Given the description of an element on the screen output the (x, y) to click on. 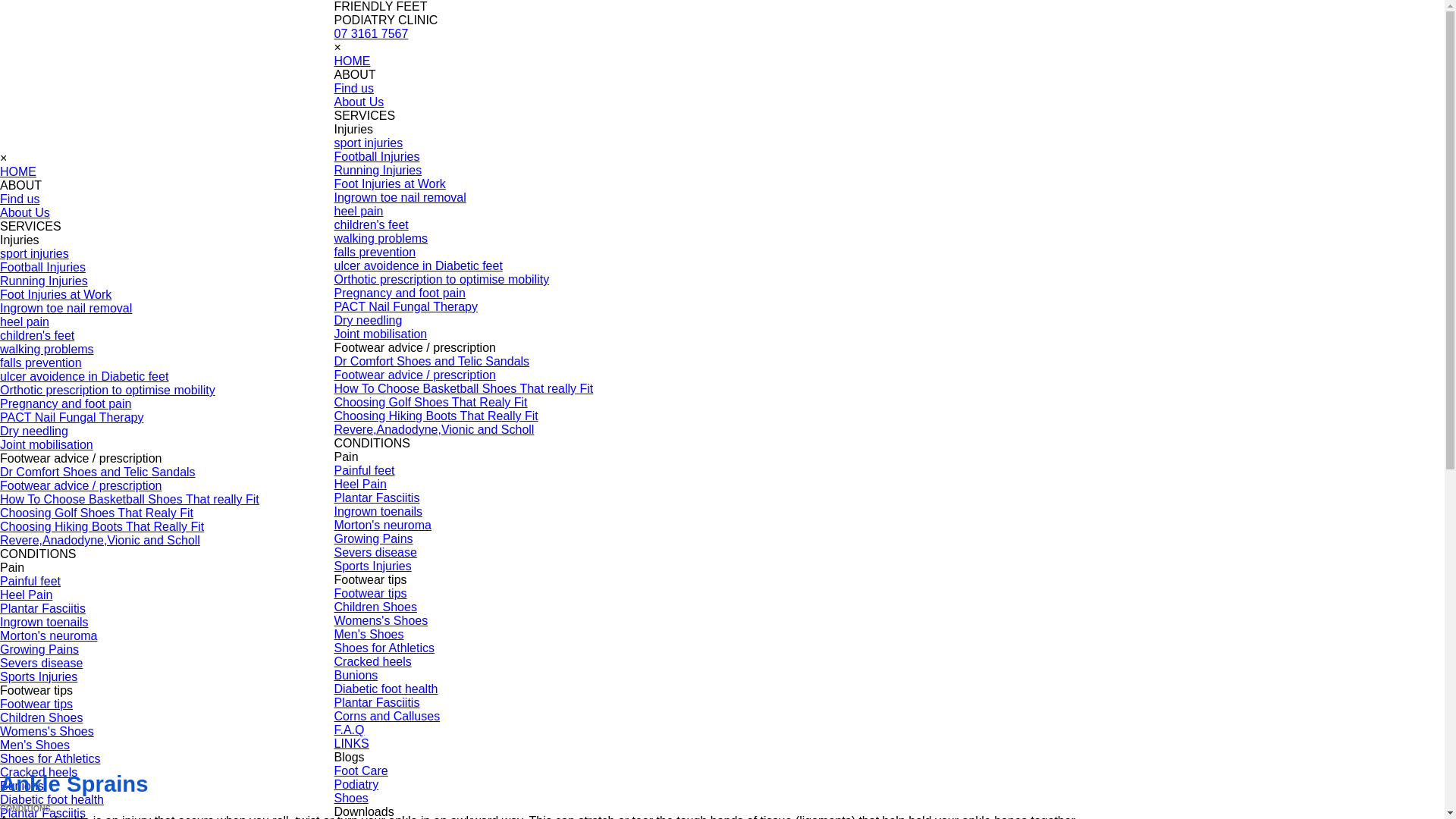
heel pain Element type: text (357, 210)
Football Injuries Element type: text (376, 156)
Men's Shoes Element type: text (34, 744)
Pregnancy and foot pain Element type: text (398, 292)
heel pain Element type: text (24, 321)
Dr Comfort Shoes and Telic Sandals Element type: text (97, 471)
About Us Element type: text (25, 212)
Running Injuries Element type: text (43, 280)
Sports Injuries Element type: text (38, 676)
children's feet Element type: text (370, 224)
PACT Nail Fungal Therapy Element type: text (71, 417)
Painful feet Element type: text (363, 470)
Men's Shoes Element type: text (368, 633)
Plantar Fasciitis Element type: text (42, 608)
Children Shoes Element type: text (41, 717)
Dr Comfort Shoes and Telic Sandals Element type: text (431, 360)
Morton's neuroma Element type: text (381, 524)
Football Injuries Element type: text (42, 266)
Foot Injuries at Work Element type: text (389, 183)
Diabetic foot health Element type: text (51, 799)
Children Shoes Element type: text (374, 606)
HOME Element type: text (351, 60)
sport injuries Element type: text (34, 253)
Pregnancy and foot pain Element type: text (65, 403)
Ingrown toe nail removal Element type: text (399, 197)
Sports Injuries Element type: text (372, 565)
Shoes Element type: text (350, 797)
walking problems Element type: text (47, 348)
children's feet Element type: text (37, 335)
Find us Element type: text (353, 87)
Footwear advice / prescription Element type: text (80, 485)
Growing Pains Element type: text (372, 538)
About Us Element type: text (358, 101)
Ingrown toenails Element type: text (377, 511)
Choosing Hiking Boots That Really Fit Element type: text (435, 415)
Painful feet Element type: text (30, 580)
Joint mobilisation Element type: text (379, 333)
PACT Nail Fungal Therapy Element type: text (404, 306)
HOME Element type: text (18, 171)
Revere,Anadodyne,Vionic and Scholl Element type: text (100, 539)
LINKS Element type: text (350, 743)
F.A.Q Element type: text (348, 729)
Ingrown toenails Element type: text (44, 621)
How To Choose Basketball Shoes That really Fit Element type: text (463, 388)
Bunions Element type: text (21, 785)
Choosing Golf Shoes That Realy Fit Element type: text (96, 512)
Find us Element type: text (19, 198)
Choosing Golf Shoes That Realy Fit Element type: text (430, 401)
ulcer avoidence in Diabetic feet Element type: text (417, 265)
Bunions Element type: text (355, 674)
sport injuries Element type: text (367, 142)
Heel Pain Element type: text (359, 483)
Footwear advice / prescription Element type: text (414, 374)
Shoes for Athletics Element type: text (383, 647)
Dry needling Element type: text (367, 319)
Morton's neuroma Element type: text (48, 635)
Ingrown toe nail removal Element type: text (65, 307)
How To Choose Basketball Shoes That really Fit Element type: text (129, 498)
Revere,Anadodyne,Vionic and Scholl Element type: text (433, 429)
Foot Injuries at Work Element type: text (55, 294)
Orthotic prescription to optimise mobility Element type: text (107, 389)
falls prevention Element type: text (40, 362)
walking problems Element type: text (380, 238)
Diabetic foot health Element type: text (385, 688)
Plantar Fasciitis Element type: text (376, 497)
Footwear tips Element type: text (36, 703)
Cracked heels Element type: text (372, 661)
Joint mobilisation Element type: text (46, 444)
falls prevention Element type: text (374, 251)
Severs disease Element type: text (41, 662)
Cracked heels Element type: text (38, 771)
Podiatry Element type: text (355, 784)
Womens's Shoes Element type: text (47, 730)
Running Injuries Element type: text (377, 169)
ulcer avoidence in Diabetic feet Element type: text (84, 376)
Plantar Fasciitis Element type: text (376, 702)
Shoes for Athletics Element type: text (50, 758)
Heel Pain Element type: text (26, 594)
Severs disease Element type: text (374, 552)
Foot Care Element type: text (360, 770)
Dry needling Element type: text (34, 430)
Orthotic prescription to optimise mobility Element type: text (441, 279)
07 3161 7567 Element type: text (370, 33)
Footwear tips Element type: text (369, 592)
Womens's Shoes Element type: text (380, 620)
Growing Pains Element type: text (39, 649)
Choosing Hiking Boots That Really Fit Element type: text (101, 526)
Corns and Calluses Element type: text (386, 715)
